Given the description of an element on the screen output the (x, y) to click on. 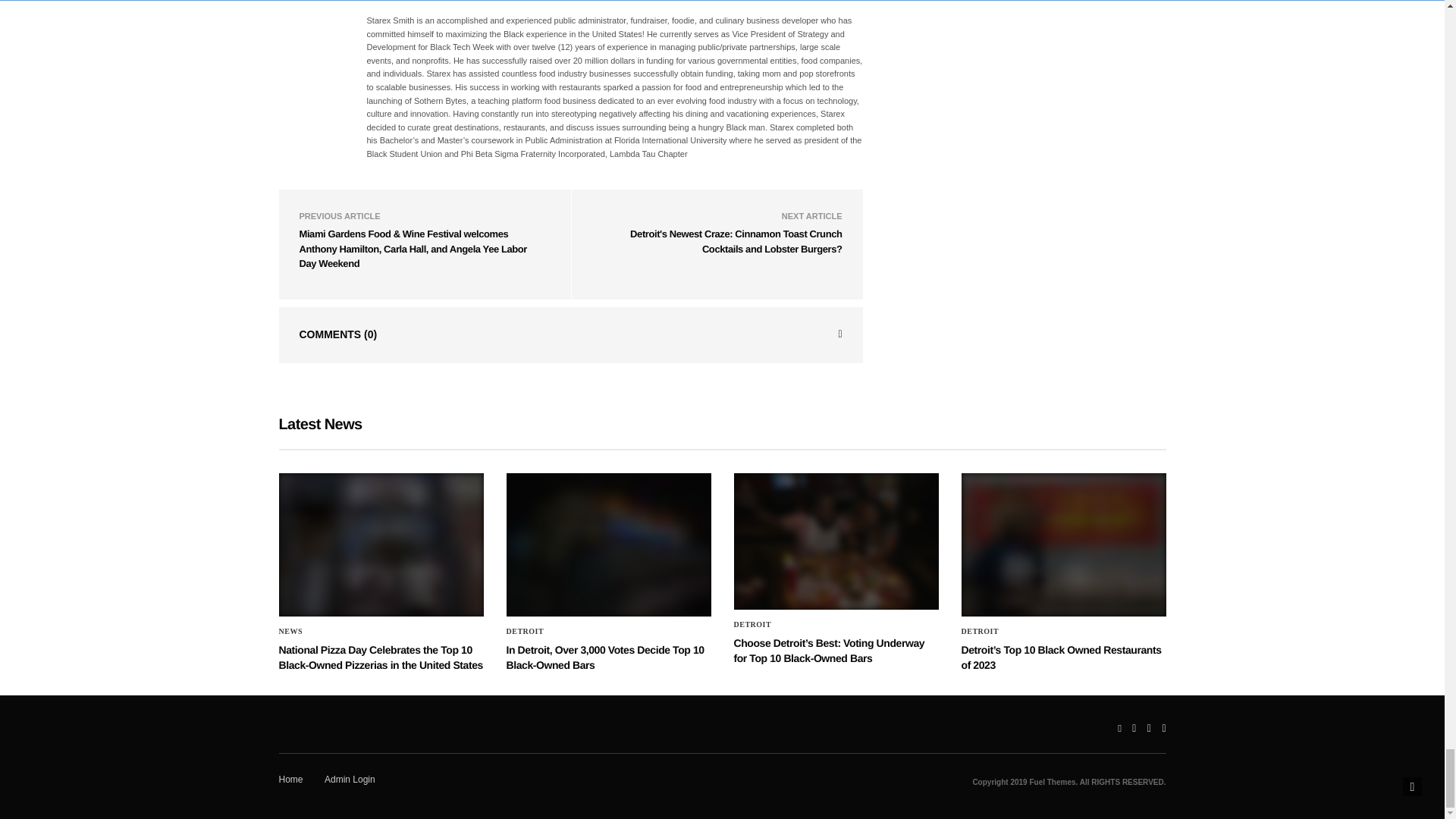
In Detroit, Over 3,000 Votes Decide Top 10 Black-Owned Bars (608, 544)
News (290, 631)
